Given the description of an element on the screen output the (x, y) to click on. 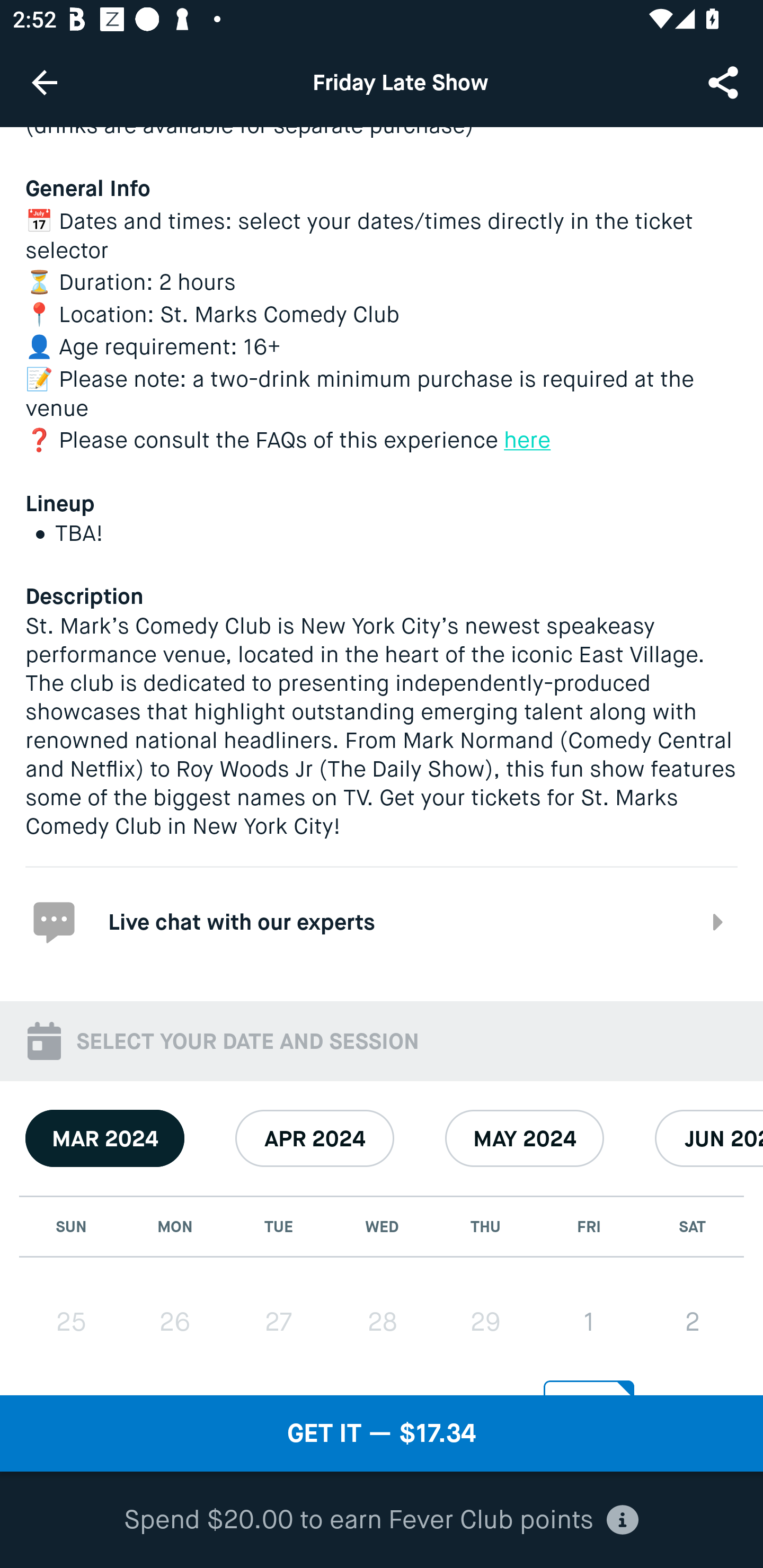
Navigate up (44, 82)
Share (724, 81)
Live chat with our experts (381, 920)
MAR 2024 (104, 1138)
APR 2024 (314, 1138)
MAY 2024 (524, 1138)
25 (70, 1321)
26 (174, 1321)
27 (278, 1321)
28 (382, 1321)
29 (485, 1321)
1 (588, 1321)
2 (692, 1321)
GET IT — $17.34 (381, 1433)
